Given the description of an element on the screen output the (x, y) to click on. 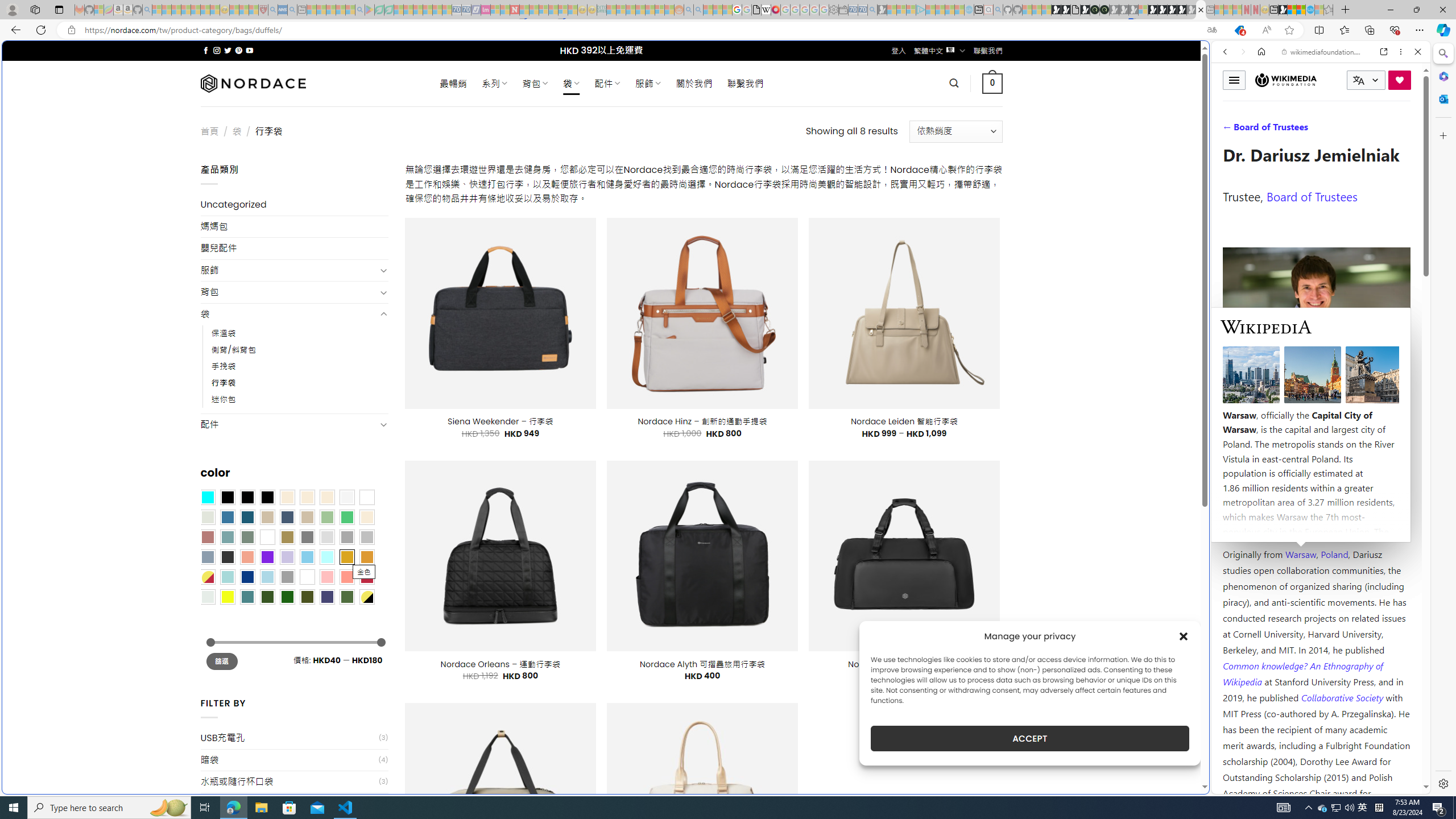
This site has coupons! Shopping in Microsoft Edge, 4 (1239, 29)
Show translate options (1212, 29)
